Given the description of an element on the screen output the (x, y) to click on. 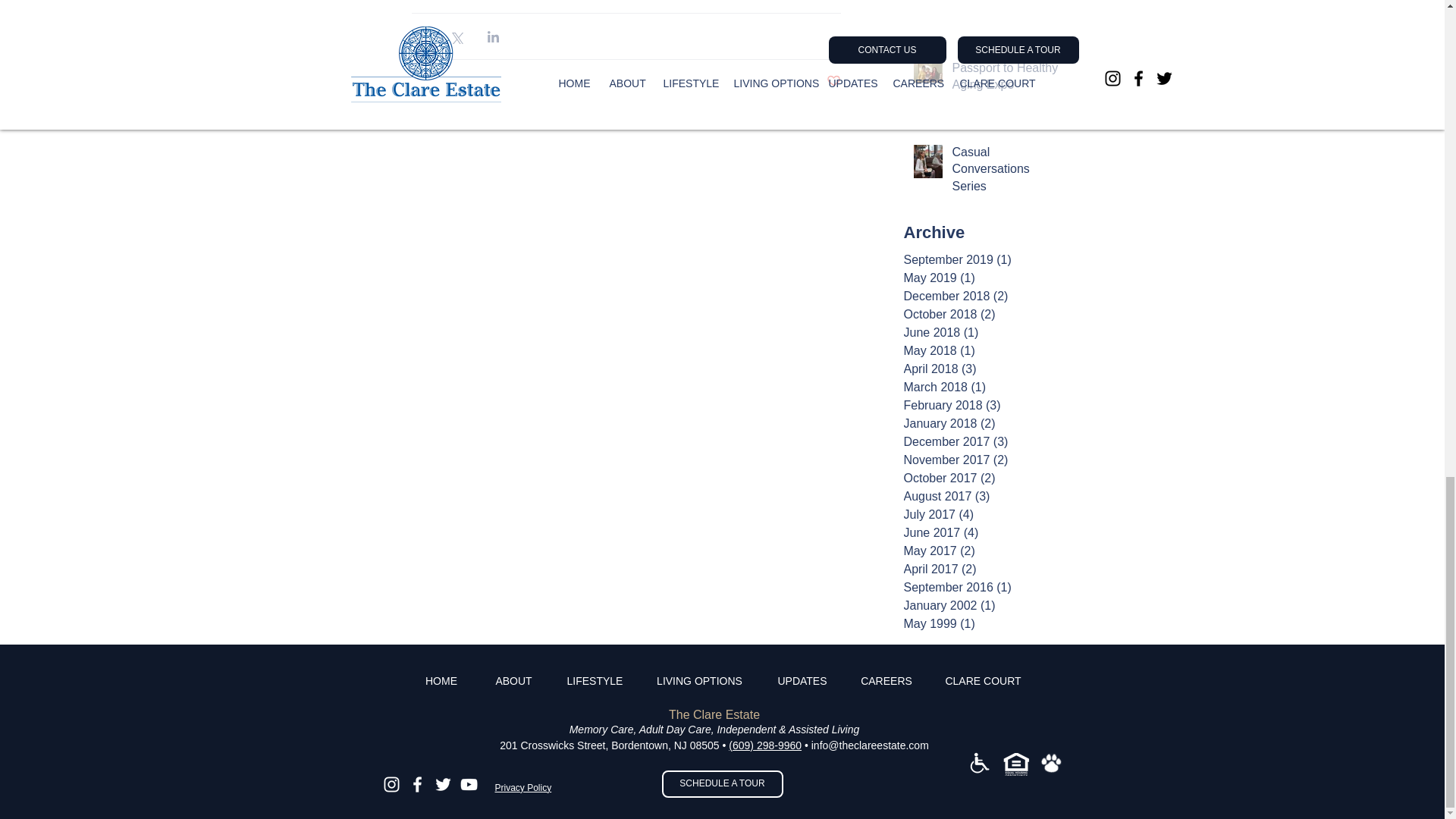
Casual Conversations Series (1006, 172)
Passport to Healthy Aging Expo (1006, 79)
Post not marked as liked (834, 81)
